Given the description of an element on the screen output the (x, y) to click on. 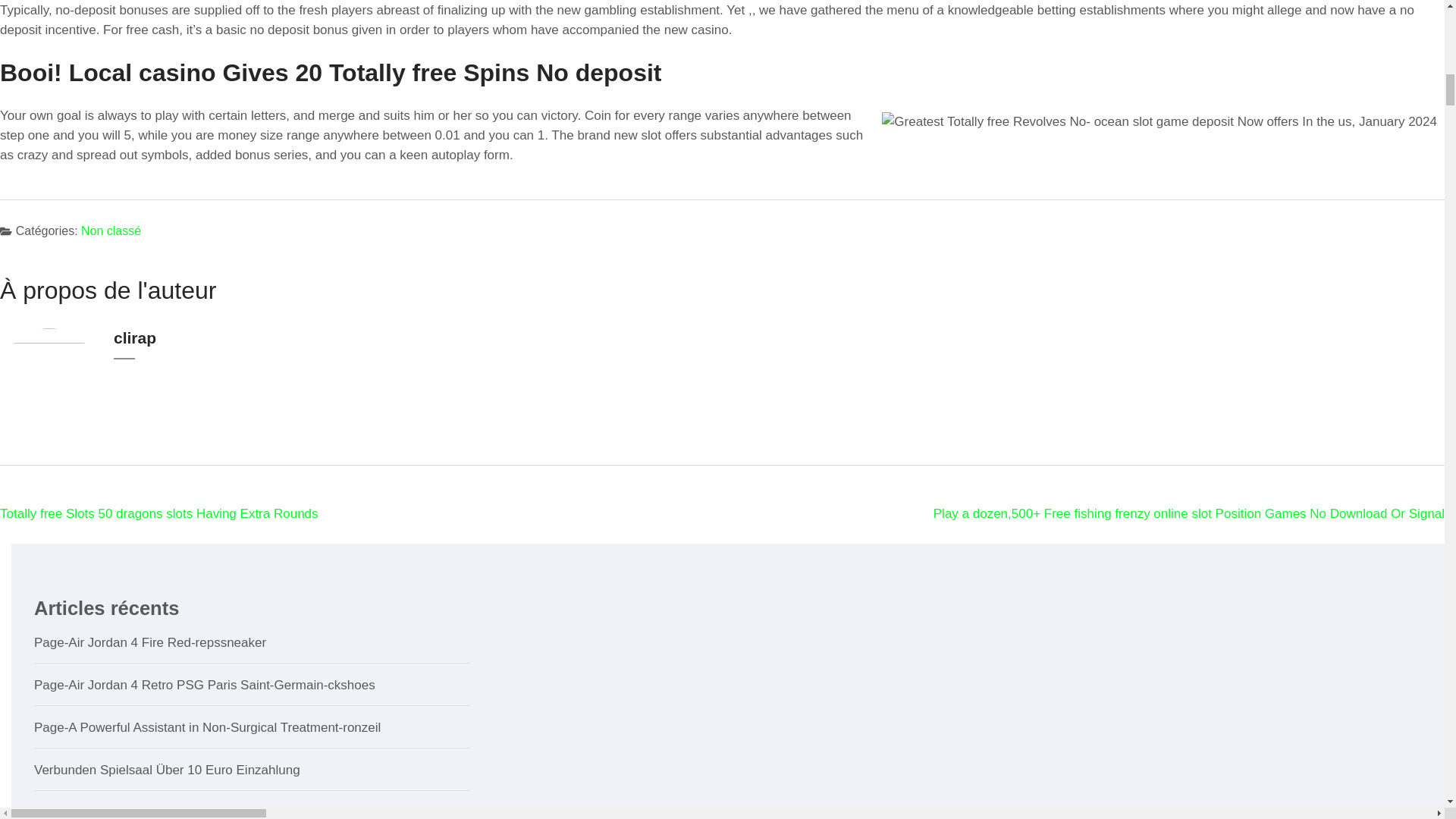
Page-Air Jordan 4 Fire Red-repssneaker (149, 642)
Totally free Slots 50 dragons slots Having Extra Rounds (159, 513)
Page-Air Jordan 4 Retro PSG Paris Saint-Germain-ckshoes (204, 685)
Page-A Powerful Assistant in Non-Surgical Treatment-ronzeil (206, 727)
